Given the description of an element on the screen output the (x, y) to click on. 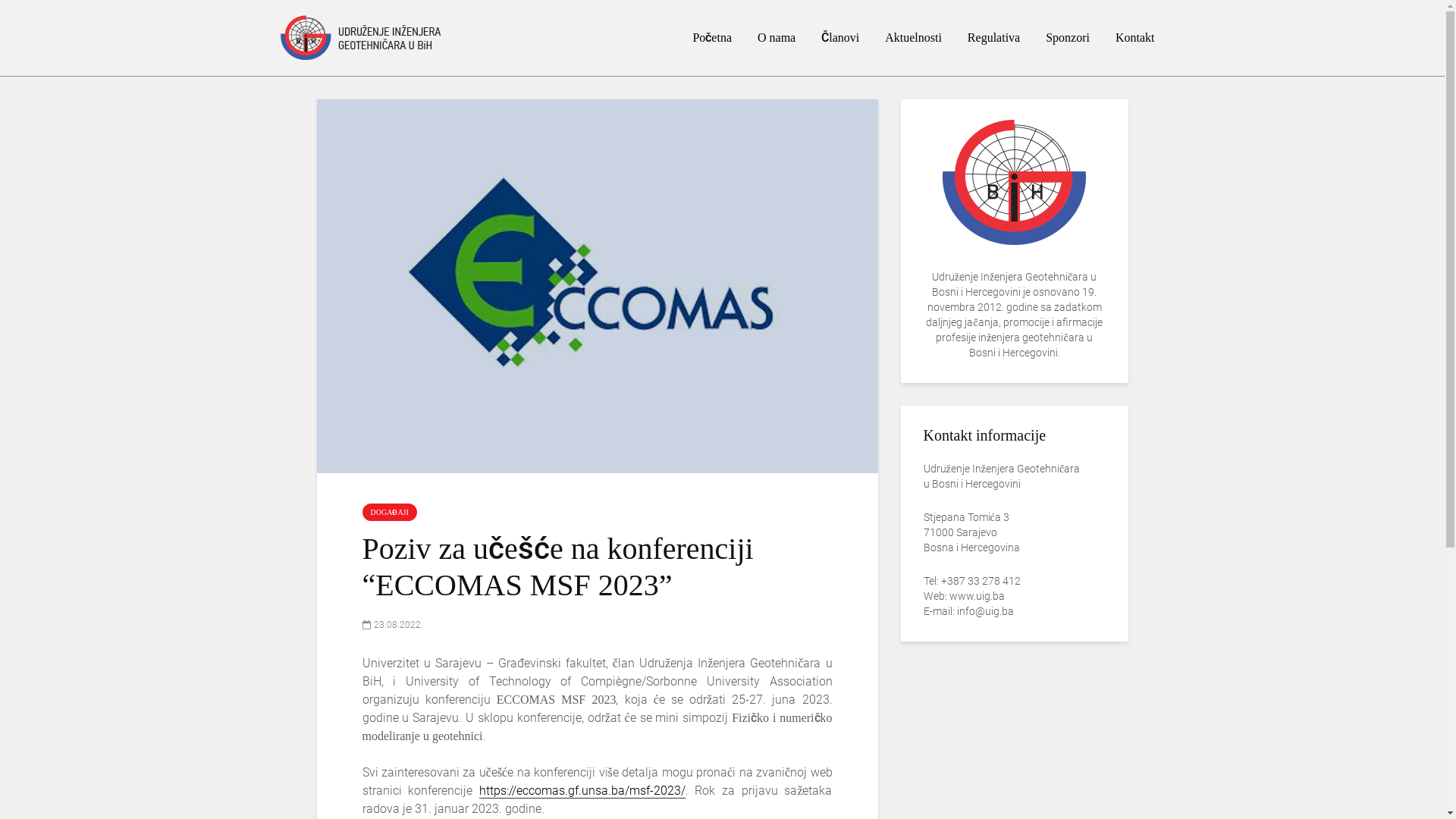
Kontakt Element type: text (1135, 37)
Aktuelnosti Element type: text (913, 37)
Regulativa Element type: text (993, 37)
https://eccomas.gf.unsa.ba/msf-2023/ Element type: text (582, 790)
O nama Element type: text (776, 37)
Sponzori Element type: text (1067, 37)
